Given the description of an element on the screen output the (x, y) to click on. 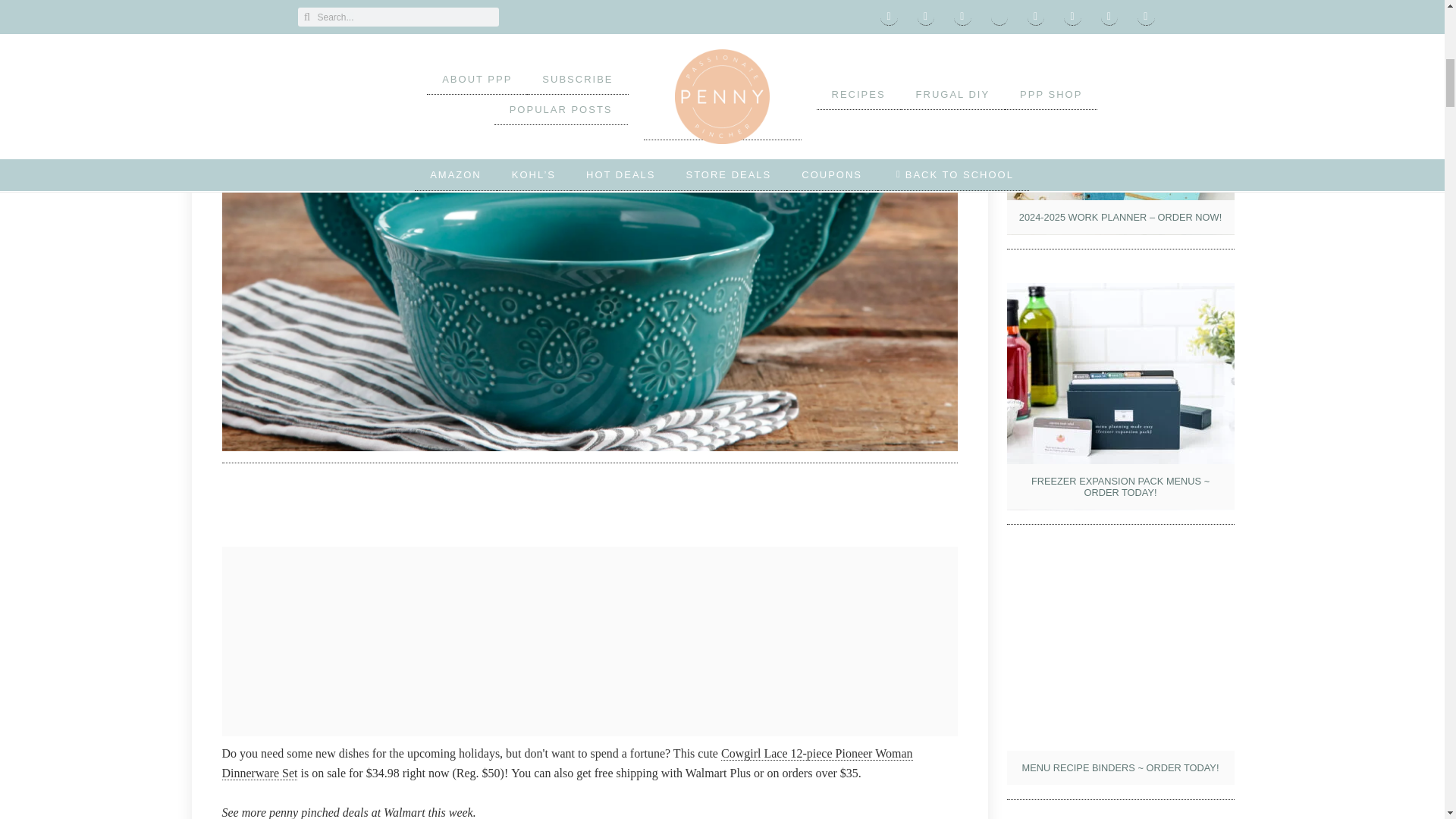
Work Planner - Order Now! (1120, 121)
